Given the description of an element on the screen output the (x, y) to click on. 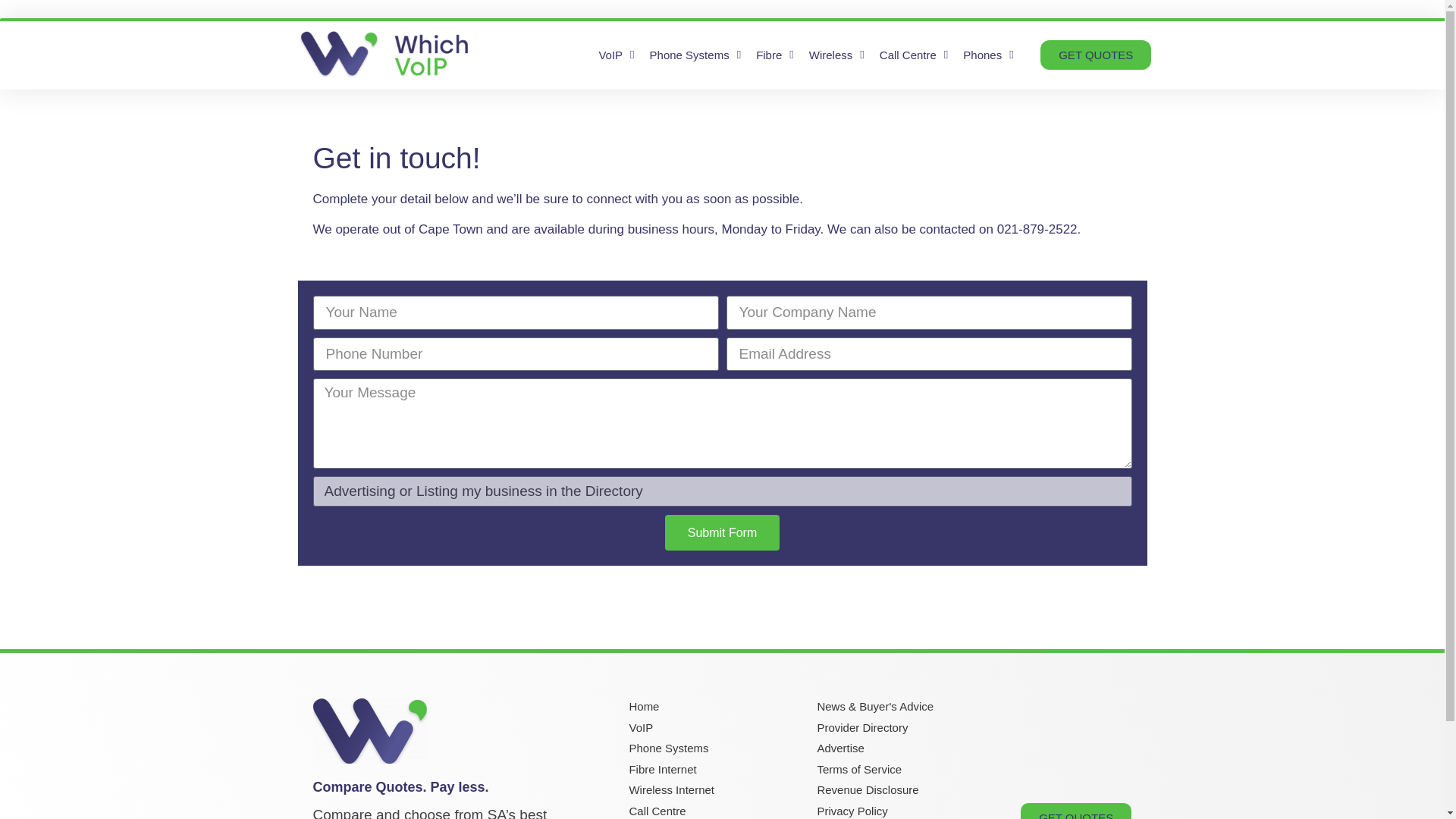
Phone Systems (695, 55)
WhichVoIP Logo-16 (369, 730)
Phones (987, 55)
Call Centre (914, 55)
Wireless (837, 55)
